Given the description of an element on the screen output the (x, y) to click on. 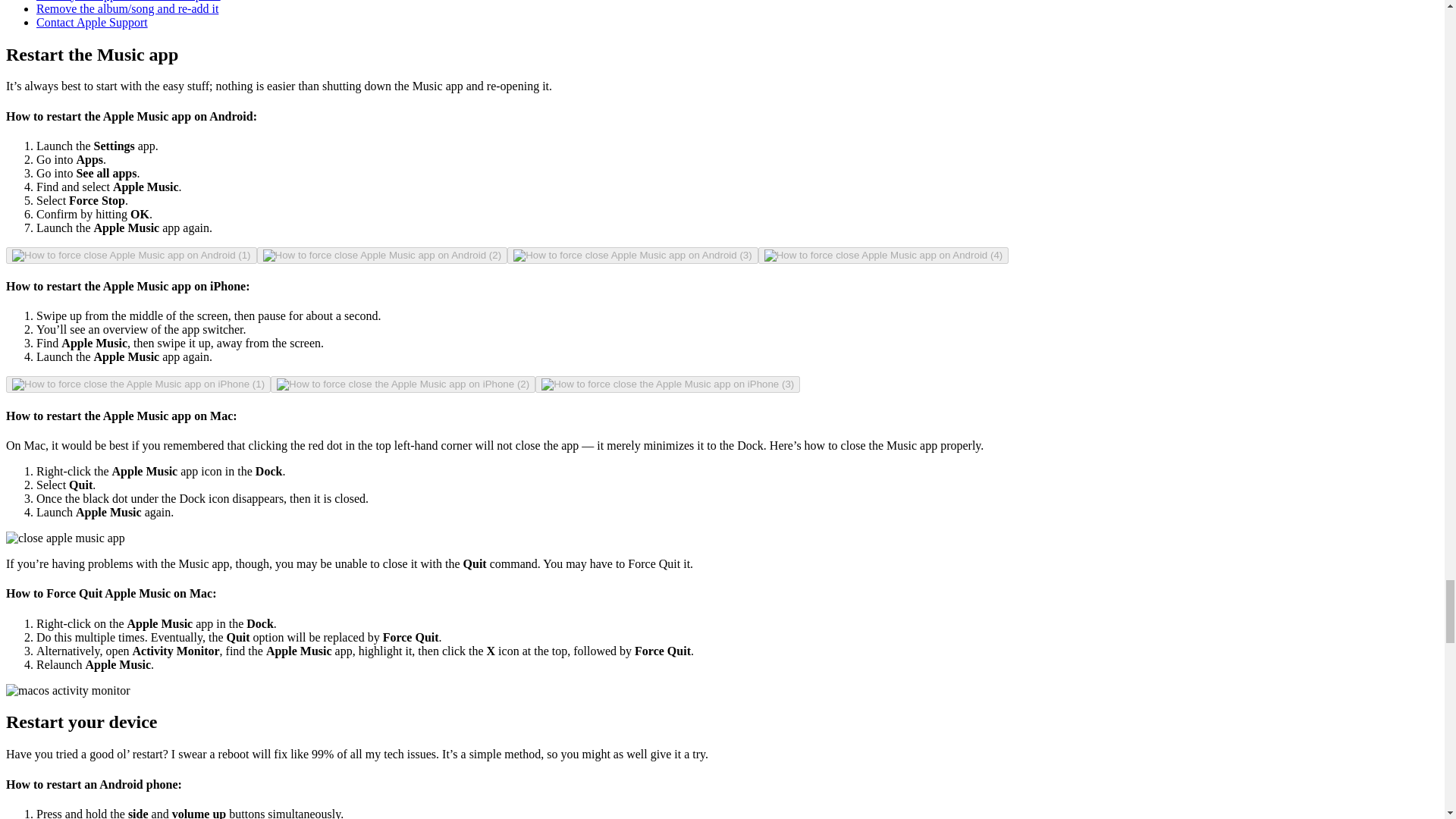
close apple music app (65, 538)
Contact Apple Support (92, 21)
macos activity monitor (68, 690)
